Given the description of an element on the screen output the (x, y) to click on. 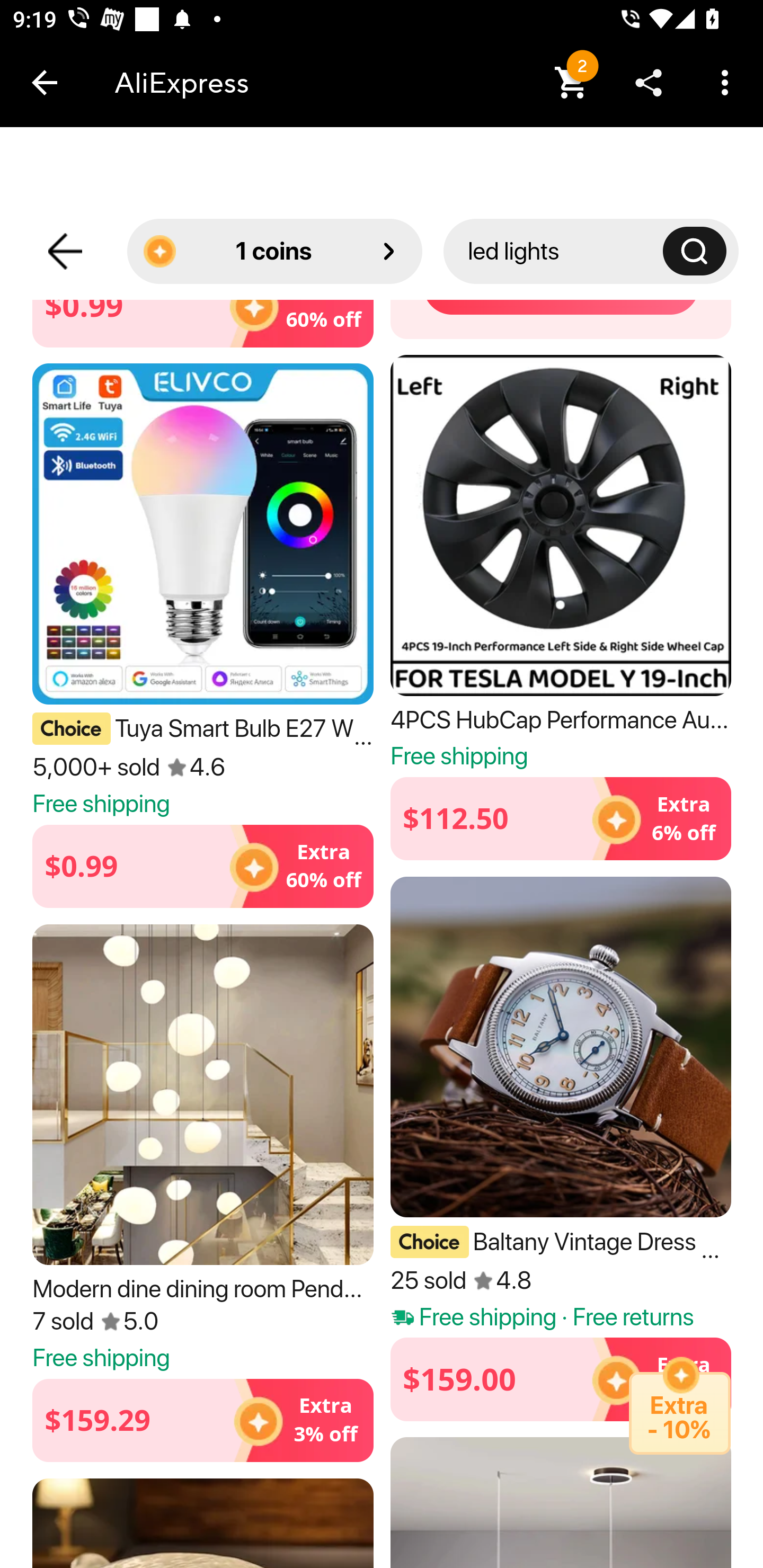
Navigate up (44, 82)
2 (572, 81)
Share (648, 81)
More… (724, 81)
1 coins Worth US $0.01 (274, 250)
led lights (564, 250)
